Given the description of an element on the screen output the (x, y) to click on. 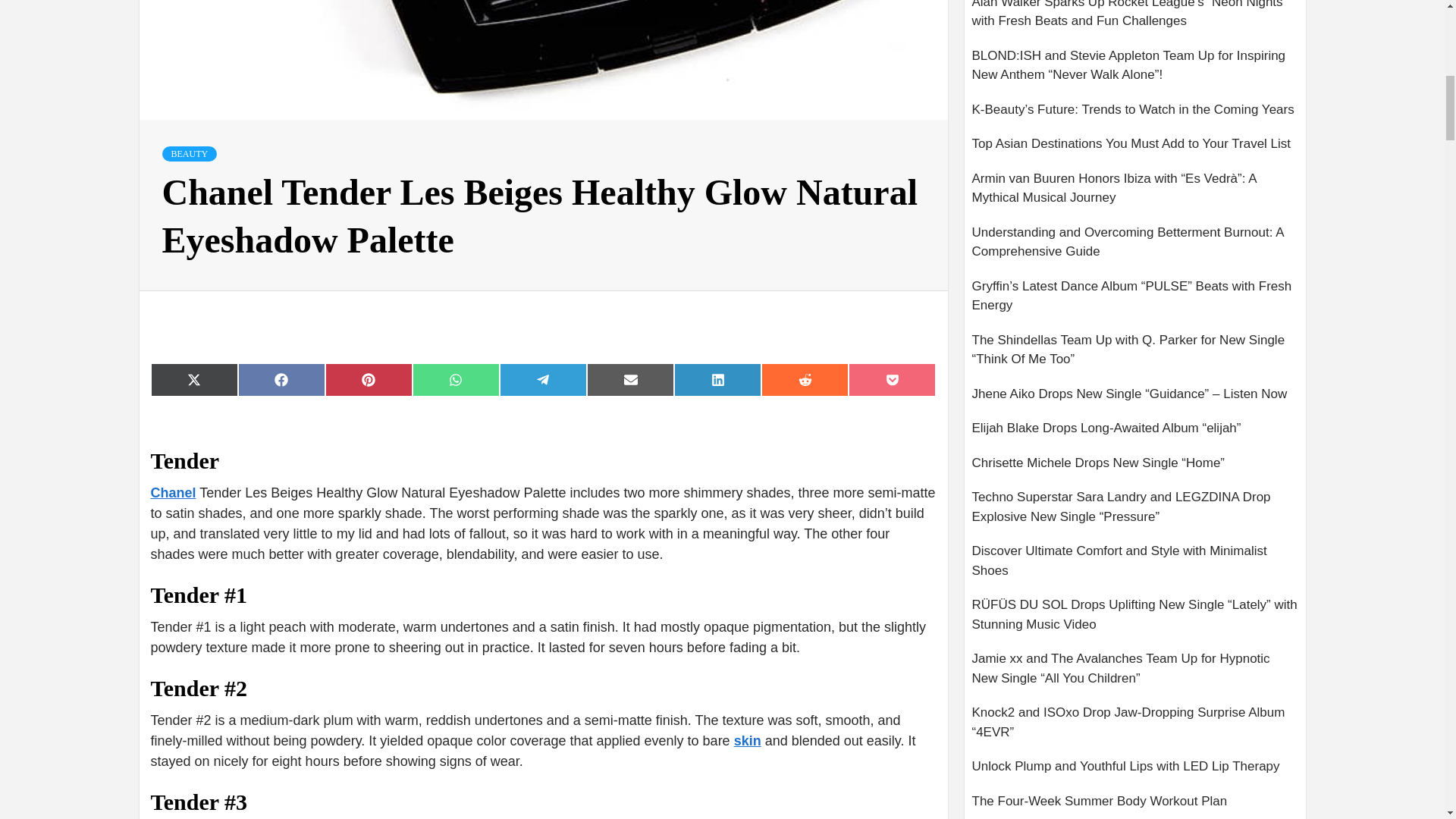
Share on Reddit (804, 379)
skin (747, 740)
Share on Telegram (542, 379)
Chanel (172, 492)
Share on Pocket (892, 379)
BEAUTY (188, 153)
Share on LinkedIn (717, 379)
Share on WhatsApp (455, 379)
Share on Facebook (281, 379)
Share on Pinterest (368, 379)
